Given the description of an element on the screen output the (x, y) to click on. 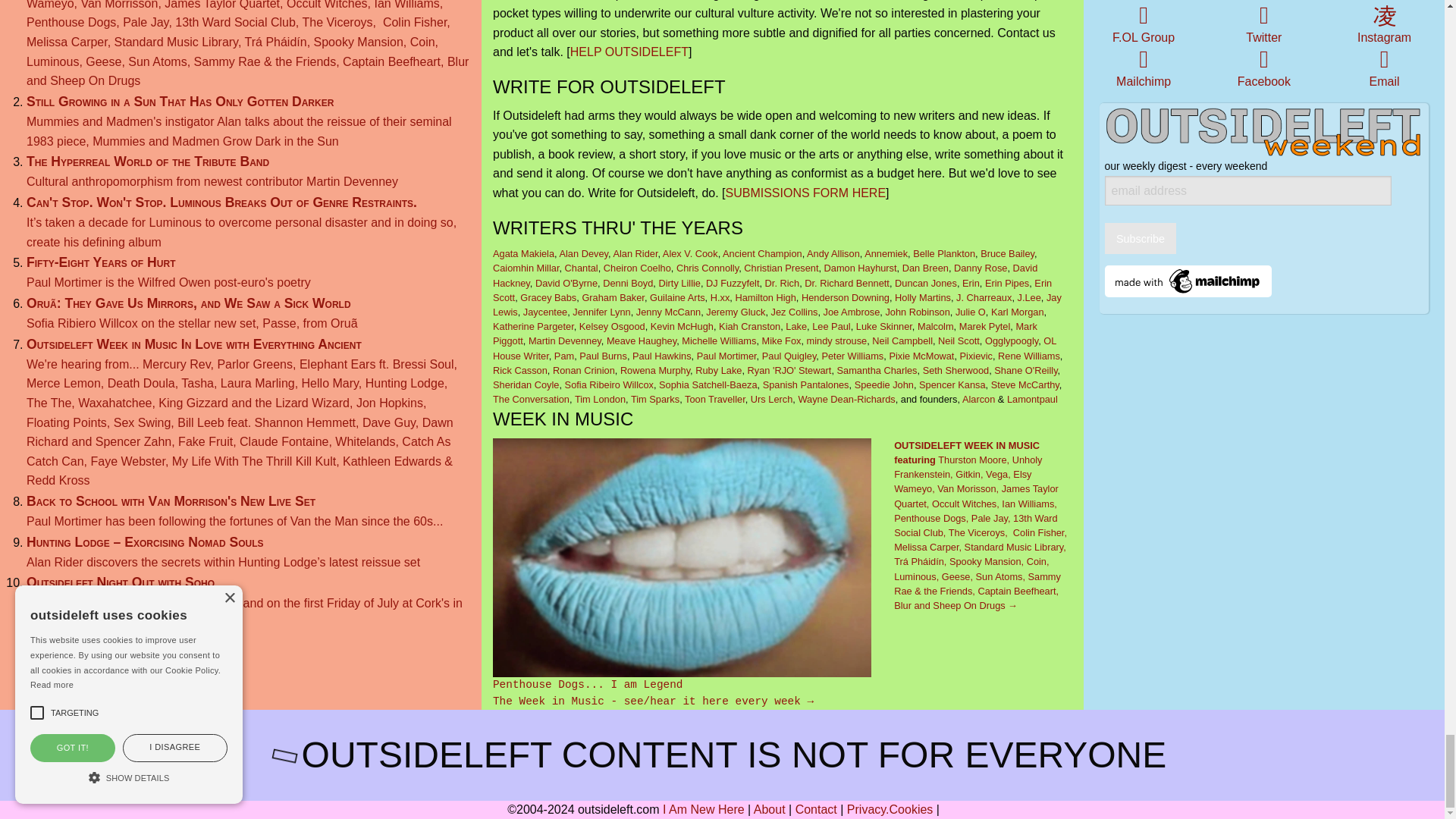
Mailchimp - email marketing made easy and fun (1188, 280)
Subscribe (1140, 237)
